Given the description of an element on the screen output the (x, y) to click on. 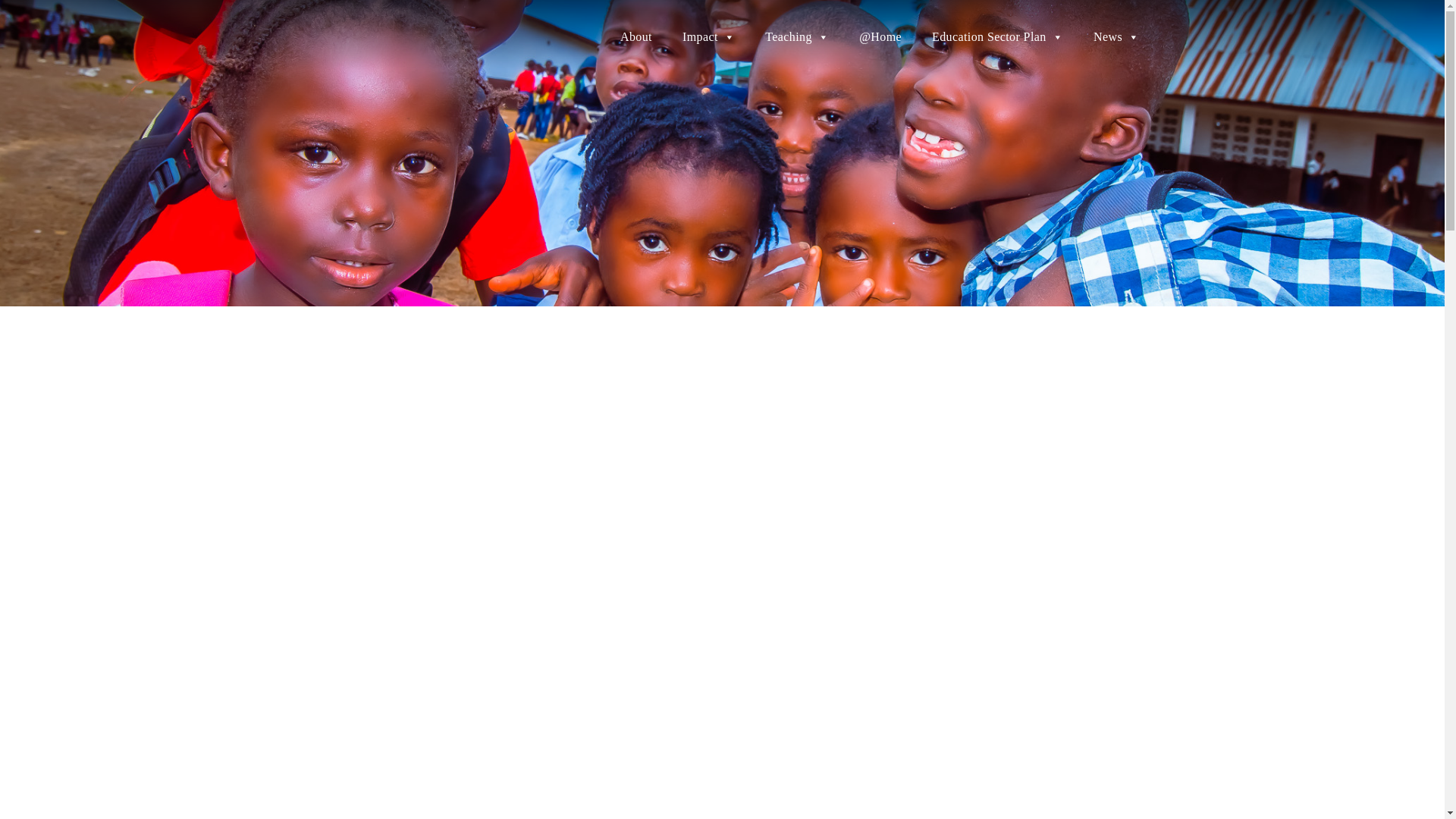
Impact (707, 37)
About (635, 37)
Teaching (796, 37)
News (1116, 37)
Education Sector Plan (997, 37)
